Given the description of an element on the screen output the (x, y) to click on. 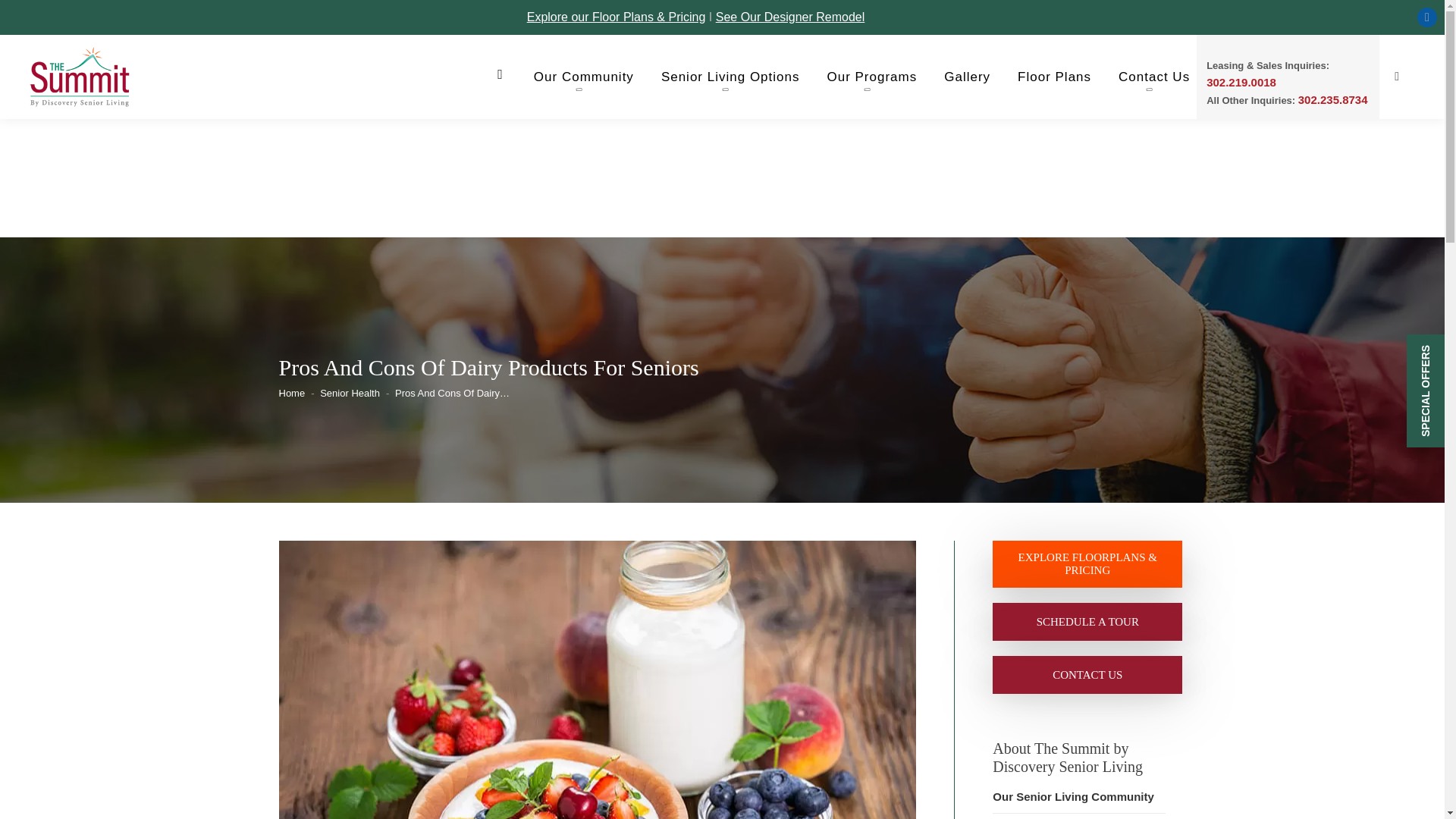
Facebook page opens in new window (1426, 17)
Schedule A Tour (1087, 621)
Senior Living Options (730, 76)
See Our Designer Remodel (790, 16)
Our Programs (872, 76)
Our Community (584, 76)
Facebook page opens in new window (1426, 17)
Contact Us (1153, 76)
Floor Plans (1054, 76)
Gallery (966, 76)
